Given the description of an element on the screen output the (x, y) to click on. 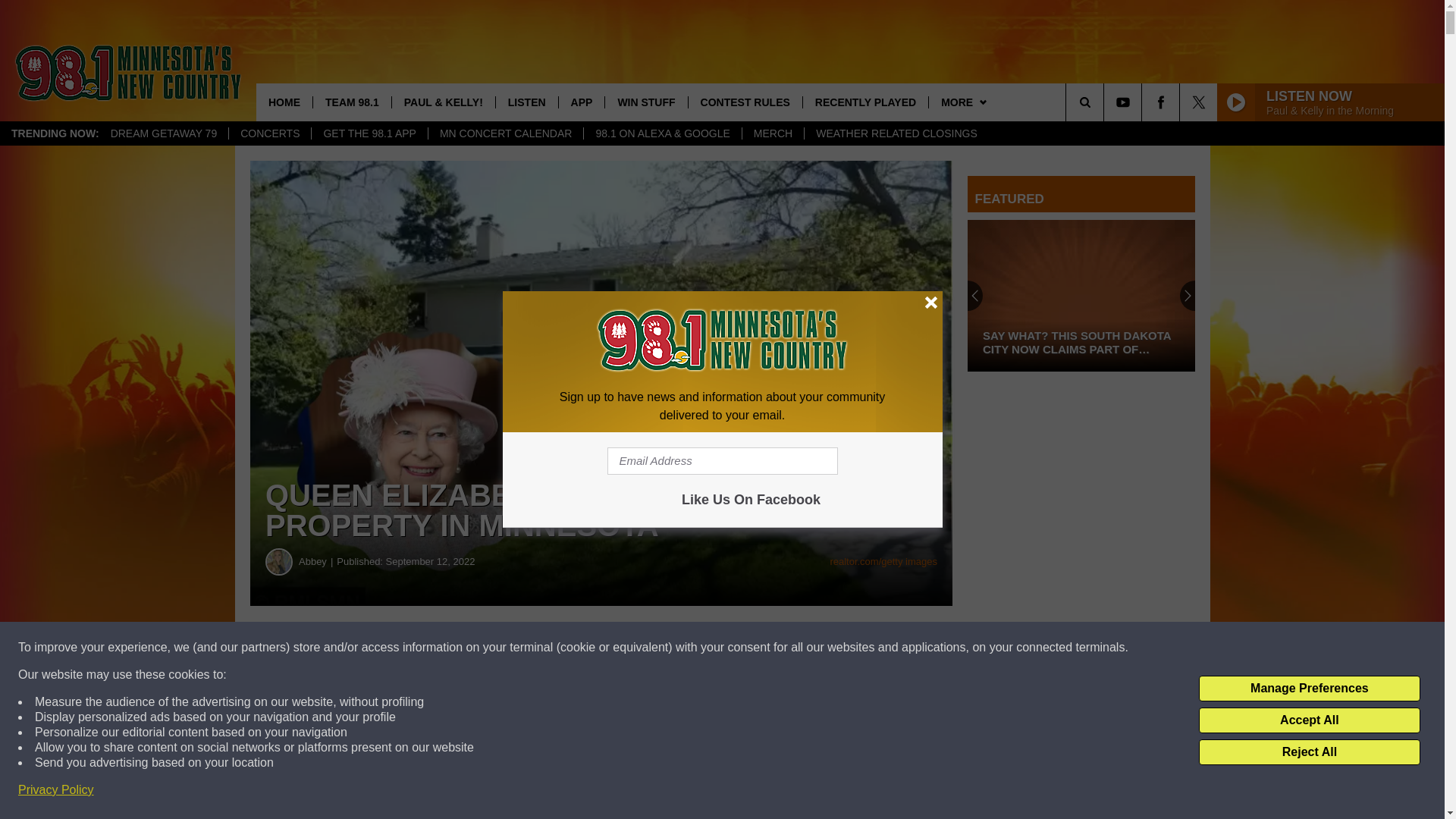
WIN STUFF (645, 102)
CONTEST RULES (744, 102)
LISTEN (526, 102)
Share on Twitter (741, 647)
Manage Preferences (1309, 688)
MN CONCERT CALENDAR (505, 133)
HOME (284, 102)
GET THE 98.1 APP (368, 133)
Accept All (1309, 720)
CONCERTS (269, 133)
TEAM 98.1 (352, 102)
Reject All (1309, 751)
SEARCH (1106, 102)
Email Address (722, 461)
APP (581, 102)
